Given the description of an element on the screen output the (x, y) to click on. 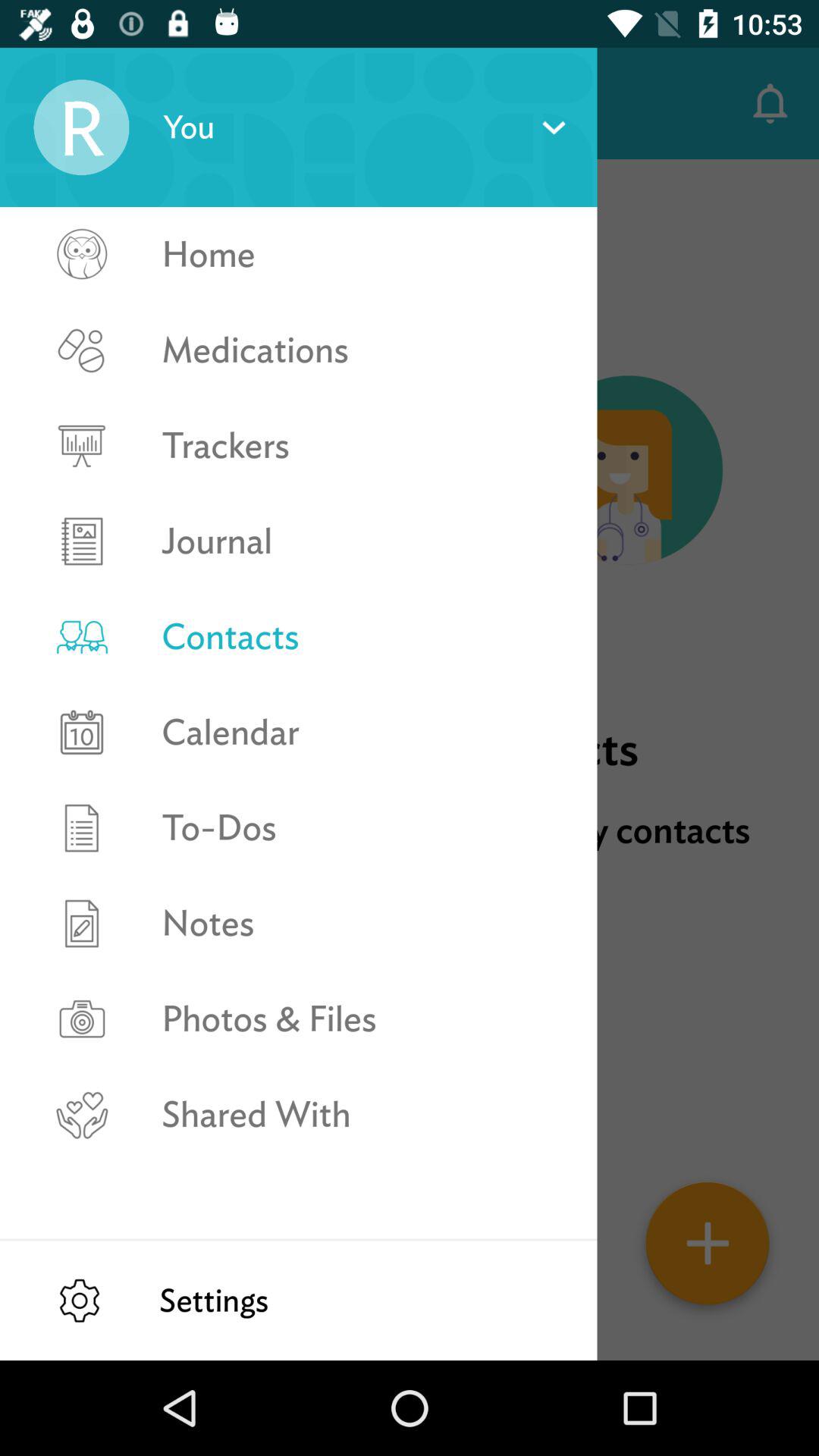
turn off the icon above the contacts icon (363, 540)
